Given the description of an element on the screen output the (x, y) to click on. 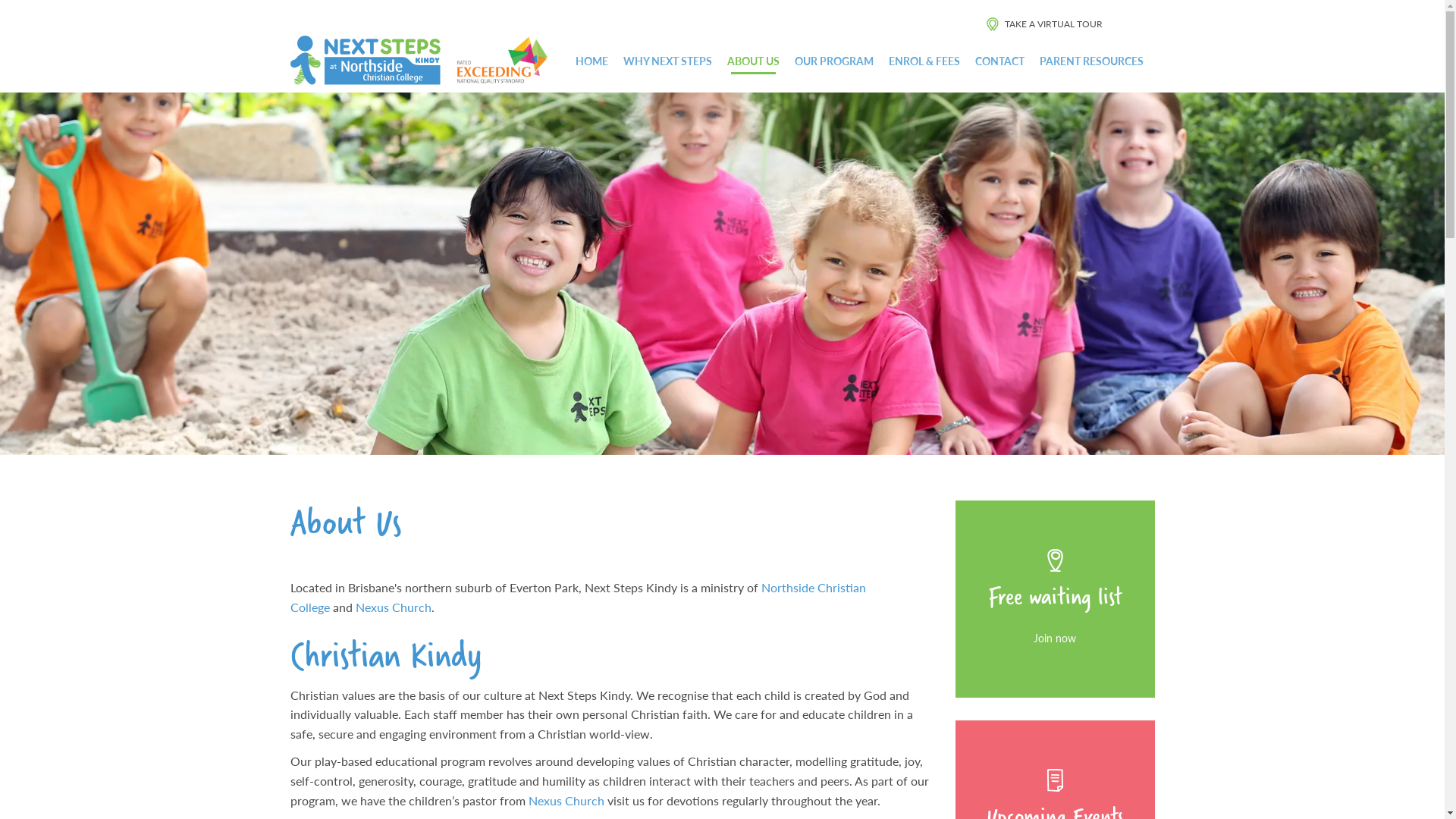
Free waiting list
Join now Element type: text (1054, 598)
ABOUT US Element type: text (753, 60)
PARENT RESOURCES Element type: text (1091, 60)
TAKE A VIRTUAL TOUR Element type: text (1044, 22)
Northside Christian College Element type: text (577, 596)
ENROL & FEES Element type: text (924, 60)
HOME Element type: text (591, 60)
OUR PROGRAM Element type: text (834, 60)
WHY NEXT STEPS Element type: text (667, 60)
Nexus Church Element type: text (392, 606)
Nexus Church Element type: text (565, 800)
CONTACT Element type: text (999, 60)
